Given the description of an element on the screen output the (x, y) to click on. 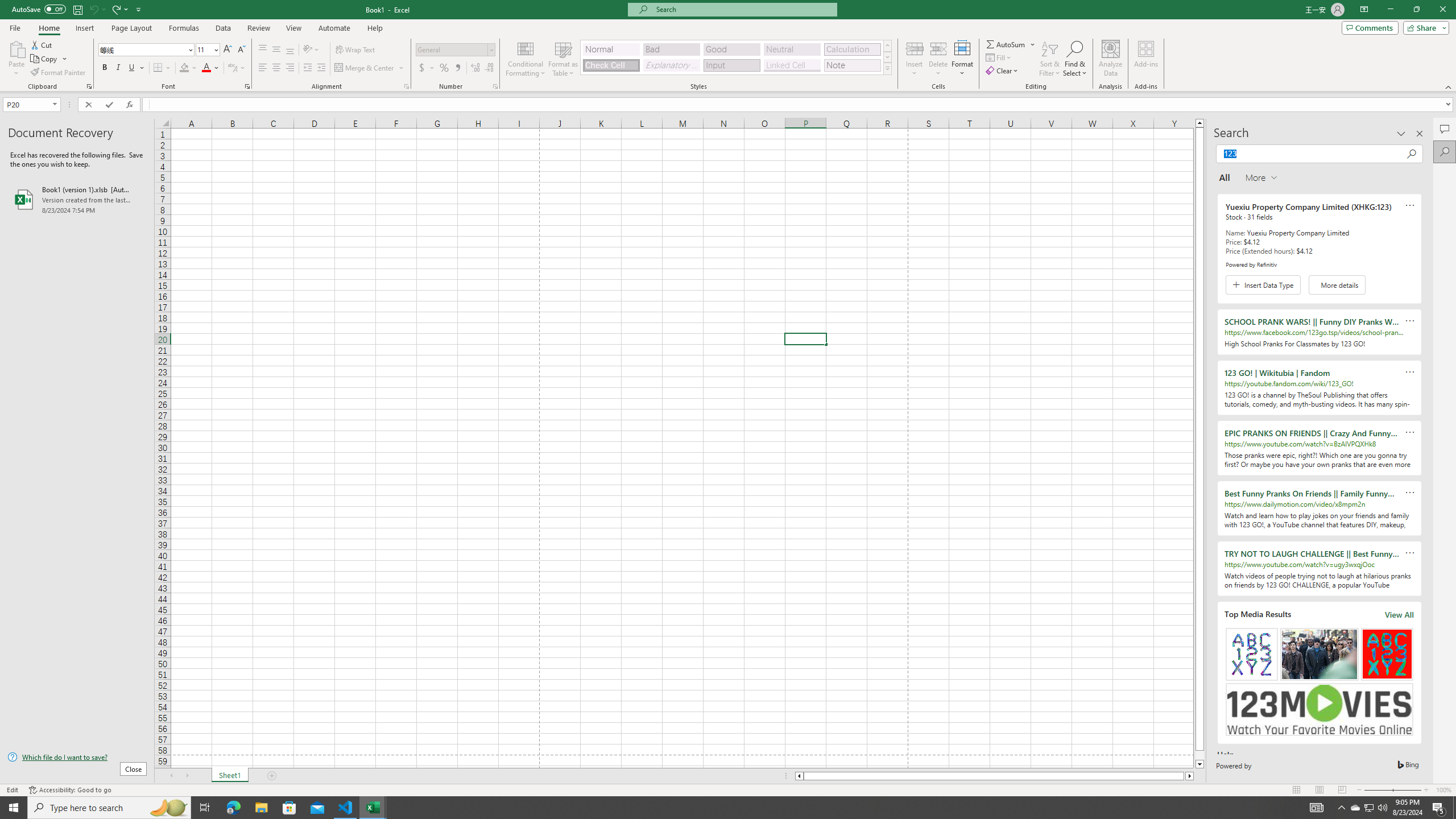
Review (258, 28)
Sheet1 (229, 775)
Bottom Align (290, 49)
Copy (49, 58)
Copy (45, 58)
System (6, 6)
Format Painter (58, 72)
Share (1423, 27)
Accounting Number Format (426, 67)
Note (852, 65)
Search (1444, 151)
Font Size (204, 49)
Cut (42, 44)
Calculation (852, 49)
Page Layout (1318, 790)
